Given the description of an element on the screen output the (x, y) to click on. 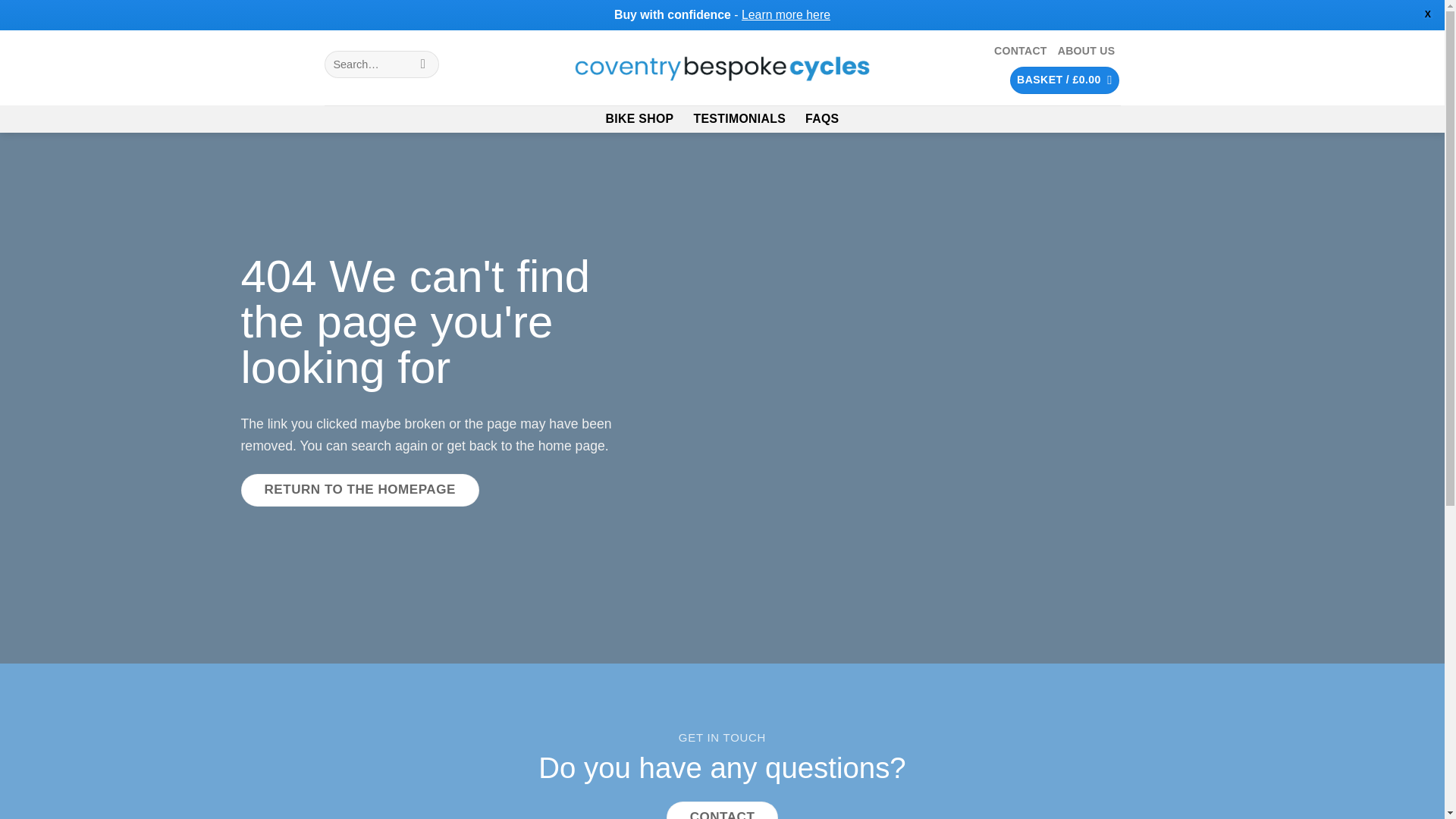
TESTIMONIALS (739, 118)
BIKE SHOP (639, 118)
FAQS (821, 118)
Coventry Bespoke Cycles - Pre-Owned High Performance Bikes (721, 68)
Learn more here (785, 14)
RETURN TO THE HOMEPAGE (360, 490)
Search (422, 64)
ABOUT US (1086, 51)
home page (571, 445)
Basket (1064, 80)
